Given the description of an element on the screen output the (x, y) to click on. 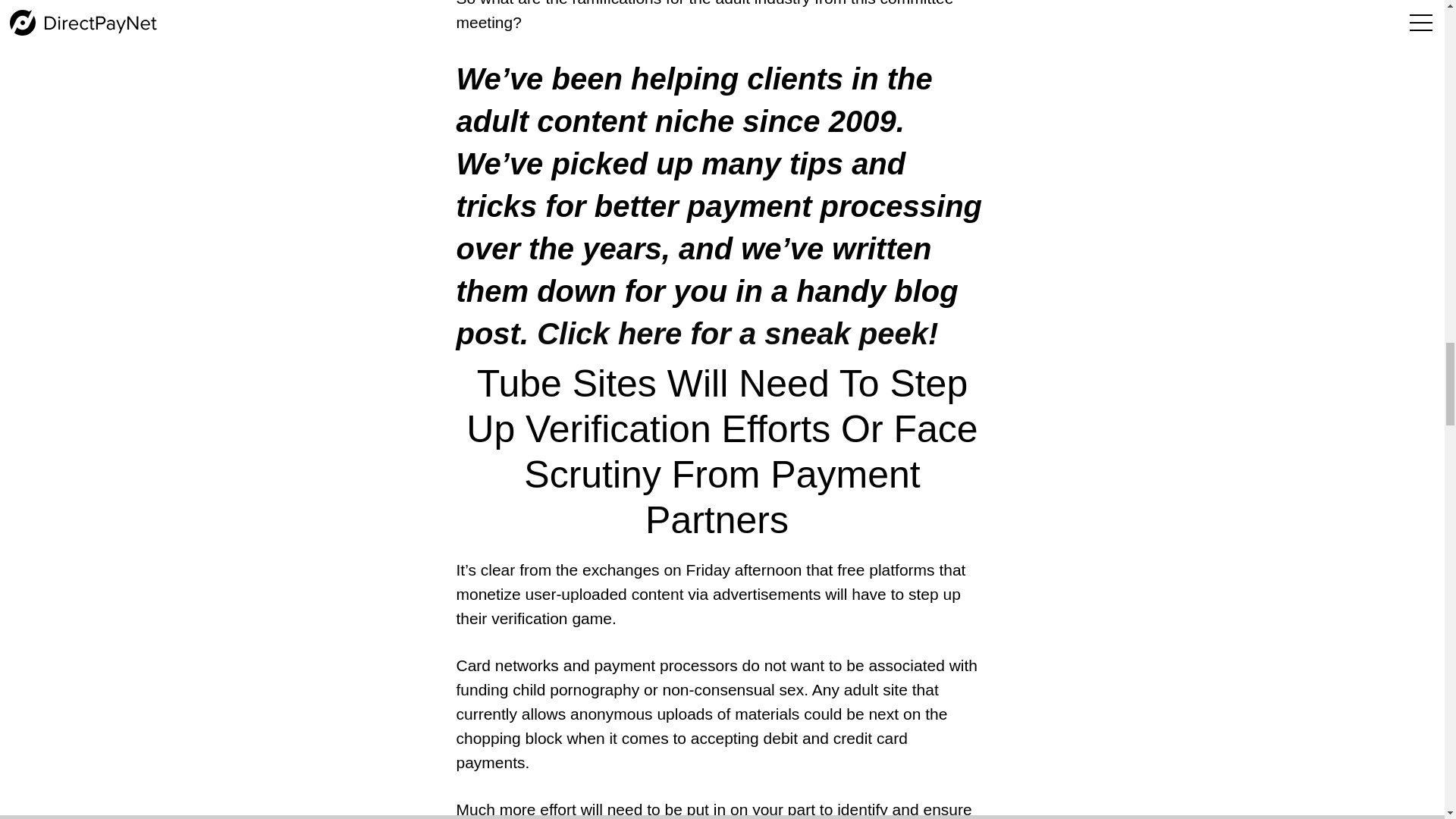
Click here for a sneak peek (732, 333)
